Given the description of an element on the screen output the (x, y) to click on. 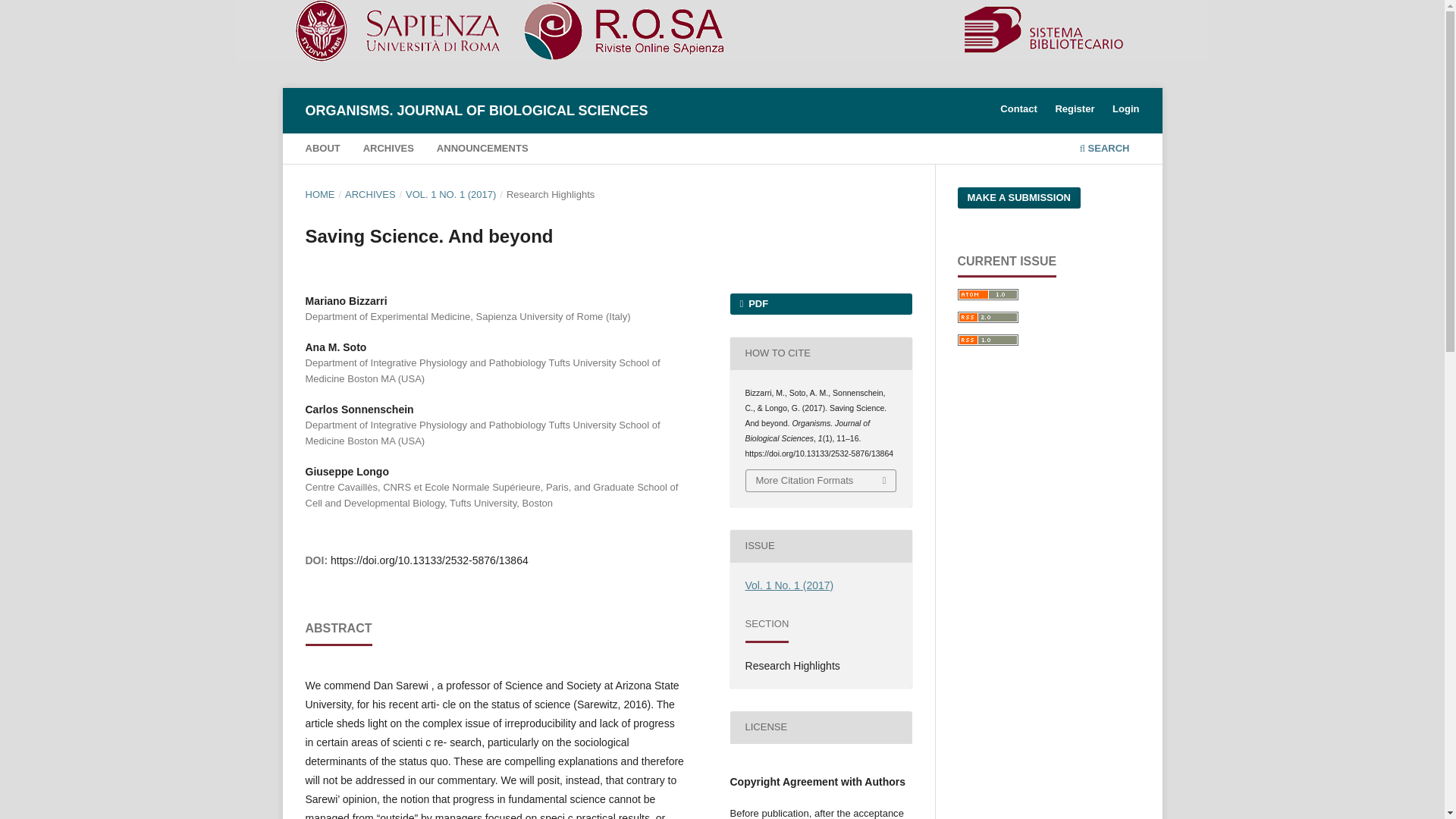
Register (1074, 108)
ANNOUNCEMENTS (481, 150)
ORGANISMS. JOURNAL OF BIOLOGICAL SCIENCES (475, 110)
More Citation Formats (820, 480)
Contact (1017, 108)
HOME (319, 194)
ARCHIVES (370, 194)
PDF (820, 303)
ABOUT (322, 150)
Login (1126, 108)
SEARCH (1104, 150)
ARCHIVES (388, 150)
